Given the description of an element on the screen output the (x, y) to click on. 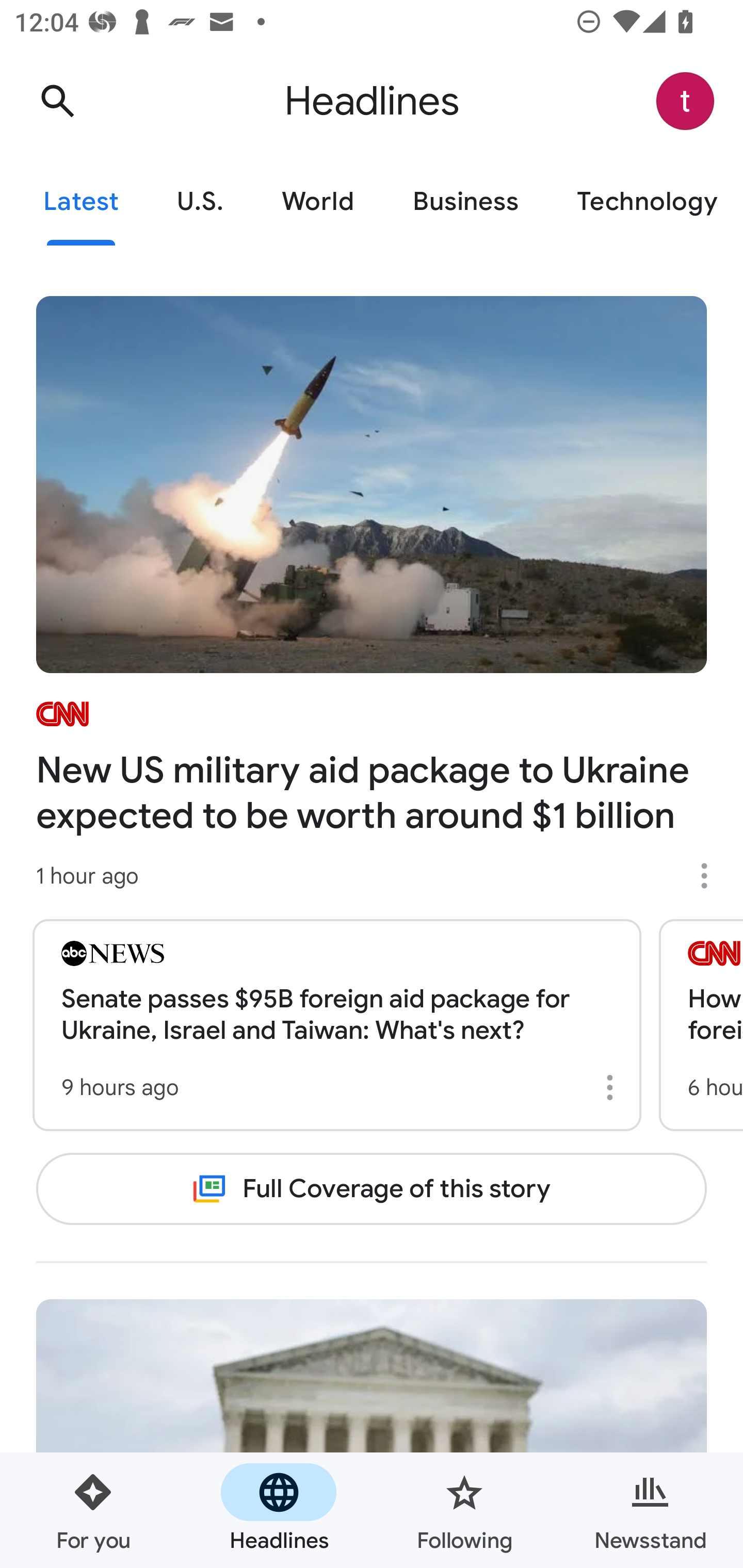
Search (57, 100)
U.S. (199, 202)
World (317, 202)
Business (465, 202)
Technology (645, 202)
More options (711, 875)
More options (613, 1086)
Full Coverage of this story (371, 1188)
For you (92, 1509)
Headlines (278, 1509)
Following (464, 1509)
Newsstand (650, 1509)
